Given the description of an element on the screen output the (x, y) to click on. 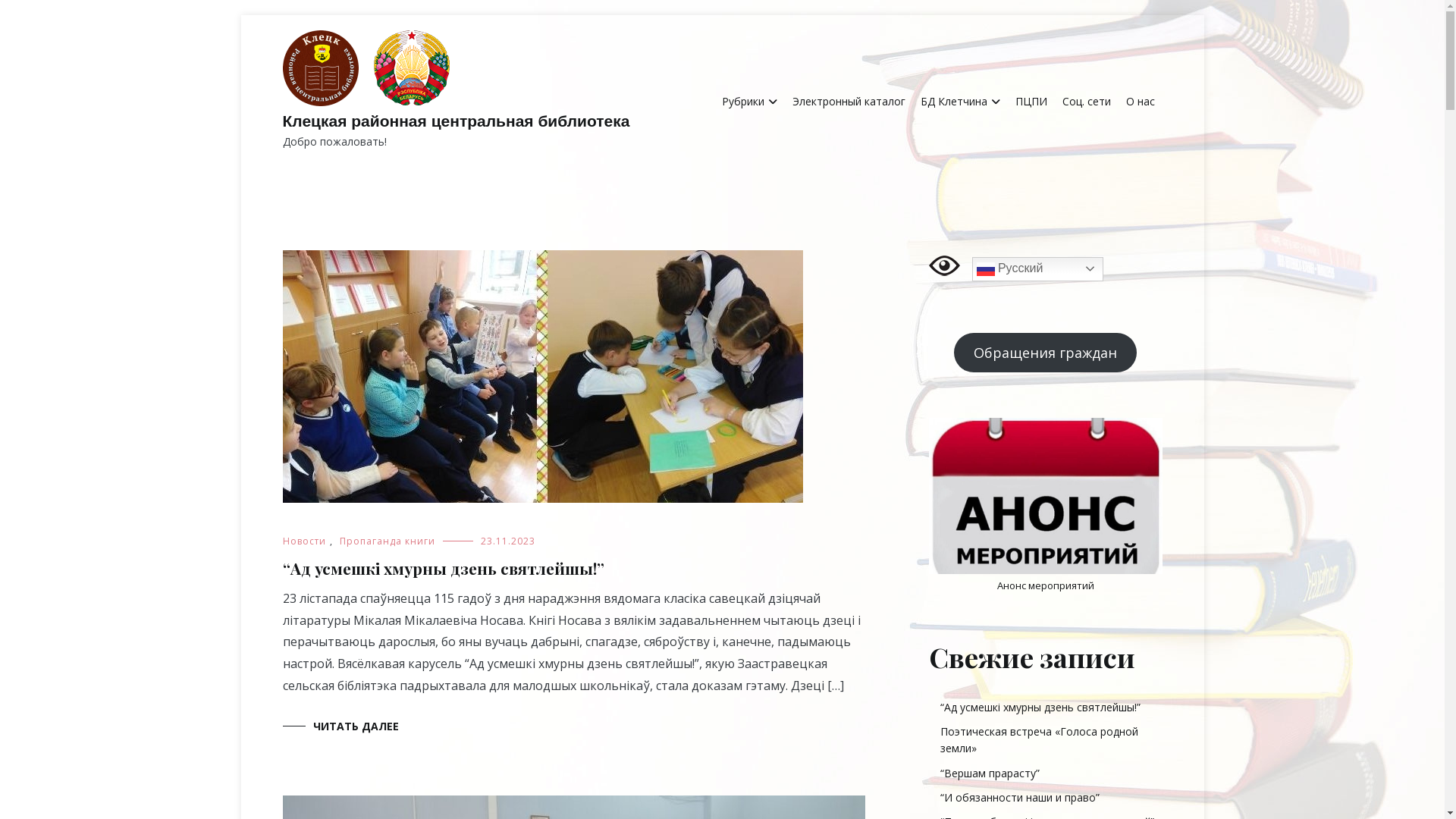
23.11.2023 Element type: text (507, 540)
